Given the description of an element on the screen output the (x, y) to click on. 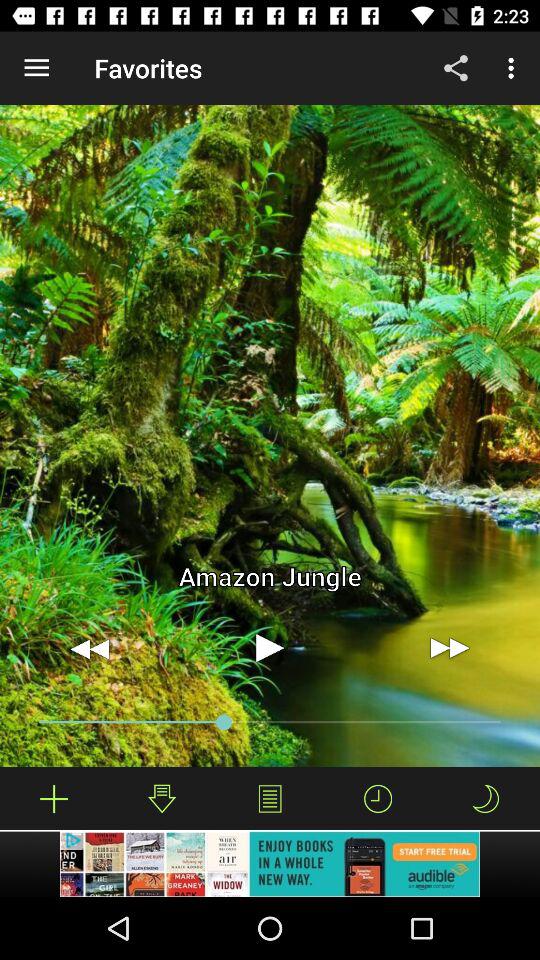
choose icon below amazon jungle item (270, 648)
